Given the description of an element on the screen output the (x, y) to click on. 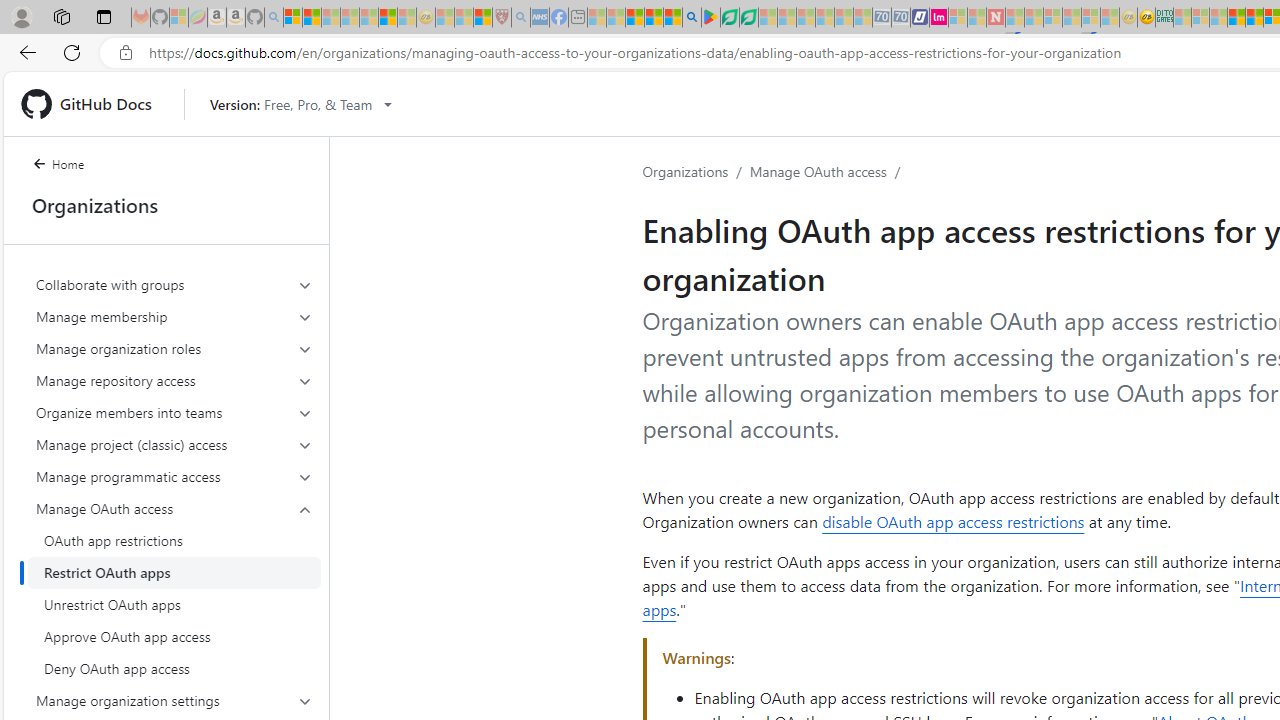
Manage project (classic) access (174, 444)
NCL Adult Asthma Inhaler Choice Guideline - Sleeping (540, 17)
GitHub Docs (93, 103)
Cheap Car Rentals - Save70.com - Sleeping (881, 17)
Restrict OAuth apps (174, 572)
Expert Portfolios (1236, 17)
OAuth app restrictions (174, 540)
Microsoft-Report a Concern to Bing - Sleeping (179, 17)
Terms of Use Agreement (729, 17)
Manage OAuth access (174, 508)
